Given the description of an element on the screen output the (x, y) to click on. 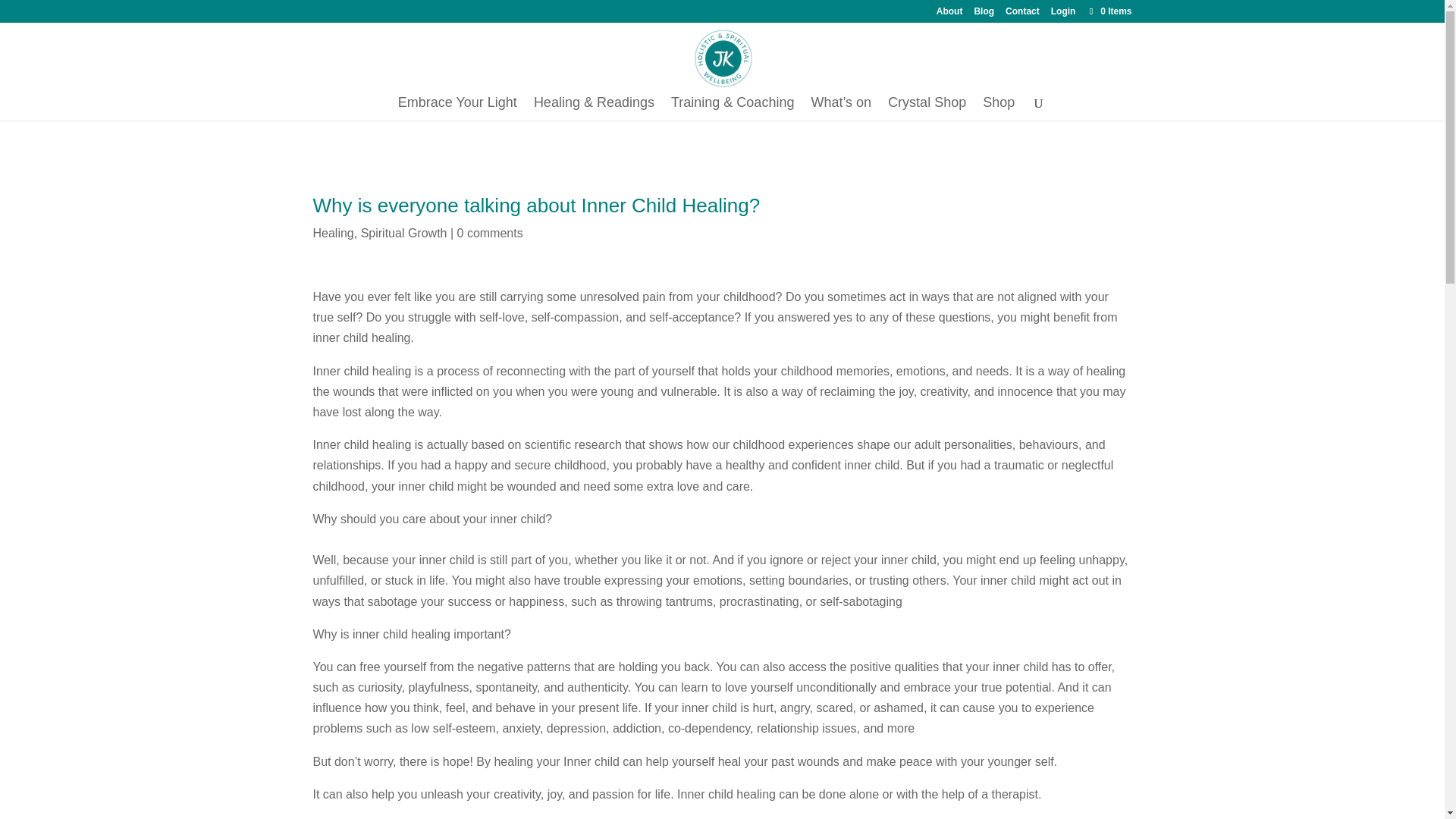
Shop (998, 108)
Contact Jo (1022, 14)
Contact (1022, 14)
About Joanna Kelsall (949, 14)
0 Items (1108, 10)
About (949, 14)
Spiritual Growth (403, 232)
Shop (998, 108)
Embrace Your Light (456, 108)
Blog (984, 14)
